Given the description of an element on the screen output the (x, y) to click on. 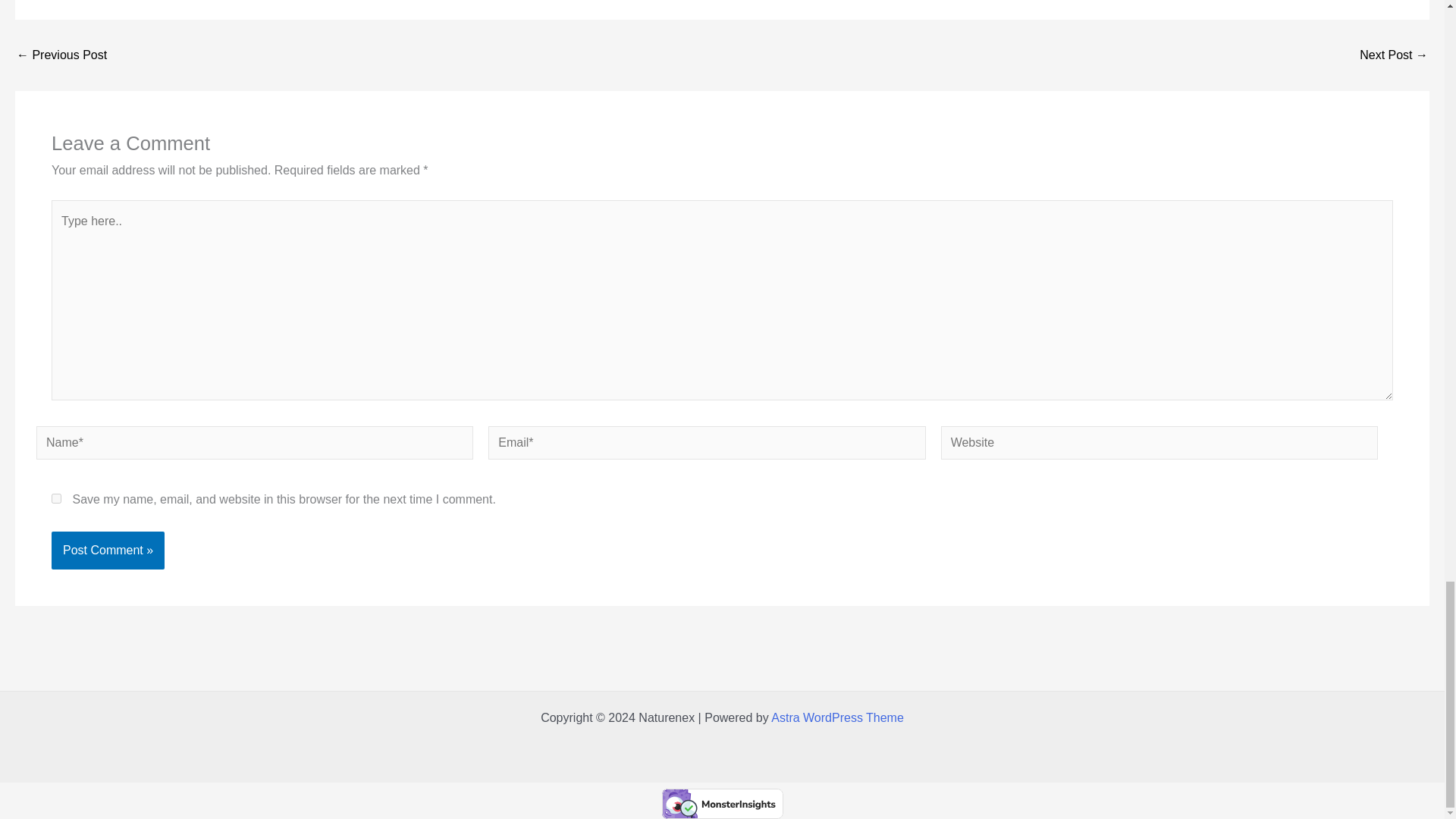
Astra WordPress Theme (837, 717)
yes (55, 498)
